Given the description of an element on the screen output the (x, y) to click on. 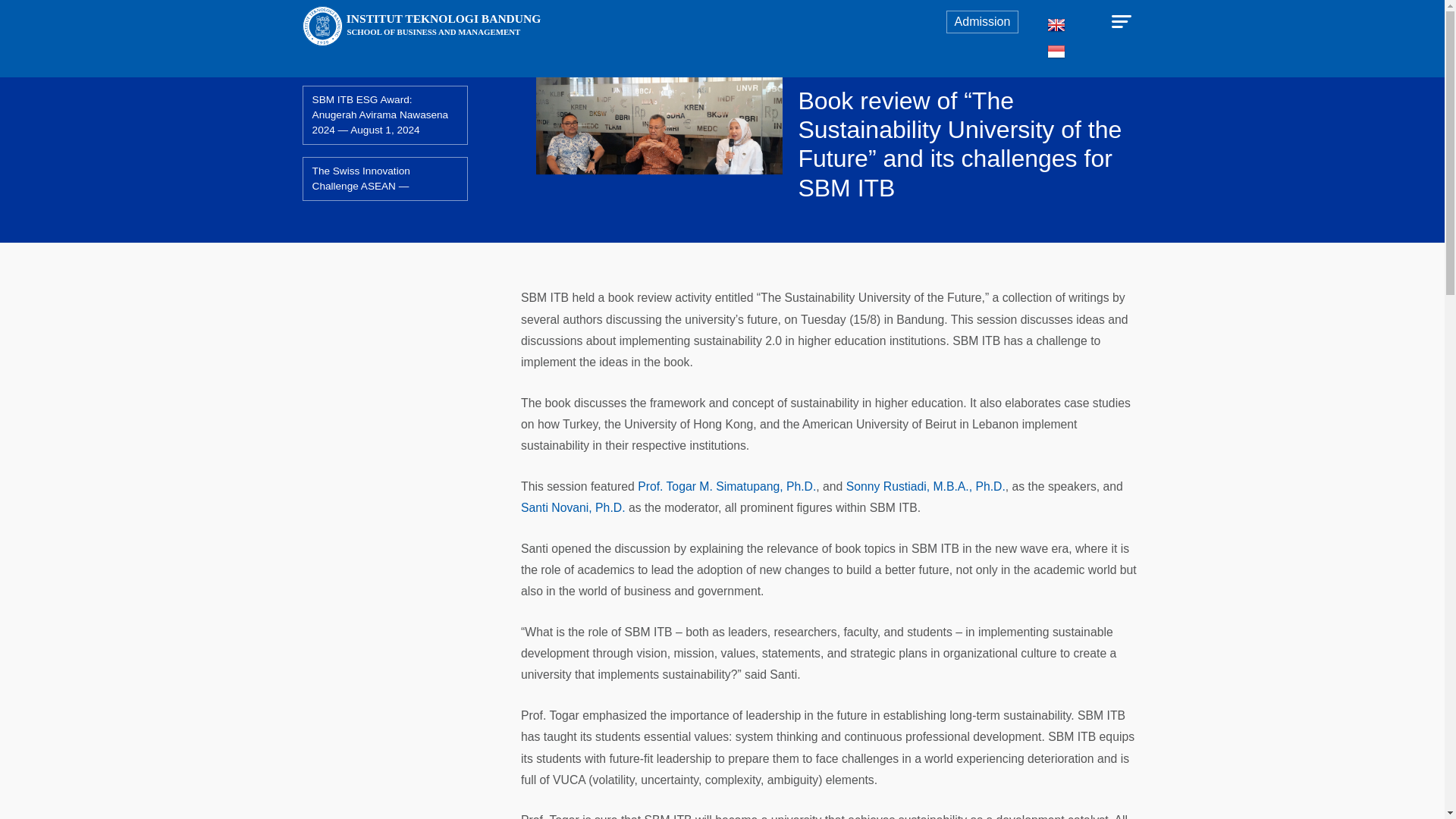
Admission (982, 21)
Prof. Togar M. Simatupang, Ph.D. (725, 486)
Sonny Rustiadi, M.B.A., Ph.D. (925, 486)
Santi Novani, Ph.D. (572, 507)
